Given the description of an element on the screen output the (x, y) to click on. 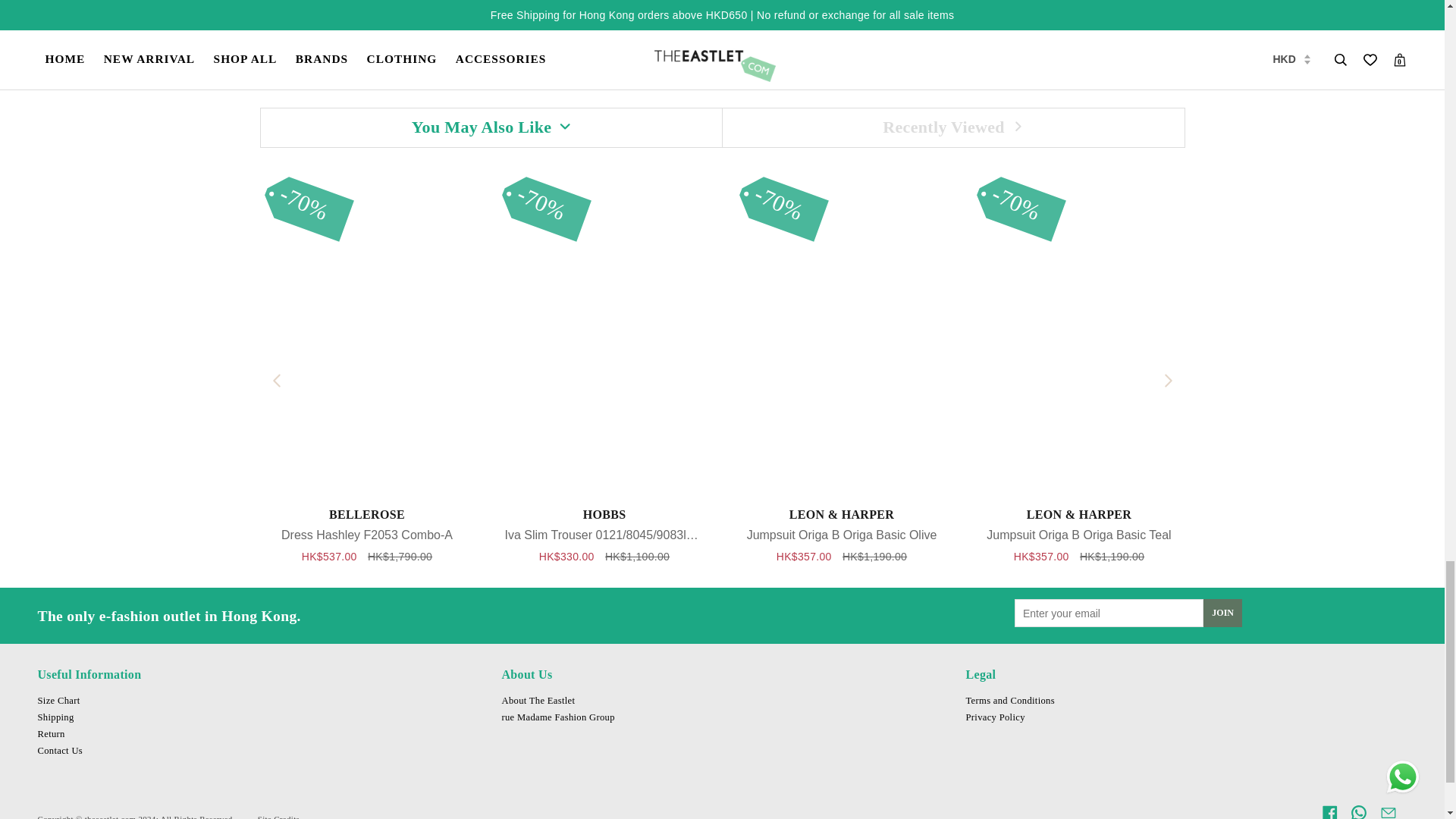
Email (1387, 811)
Facebook (1330, 811)
Join (1222, 612)
Whatsapp (1359, 811)
